Given the description of an element on the screen output the (x, y) to click on. 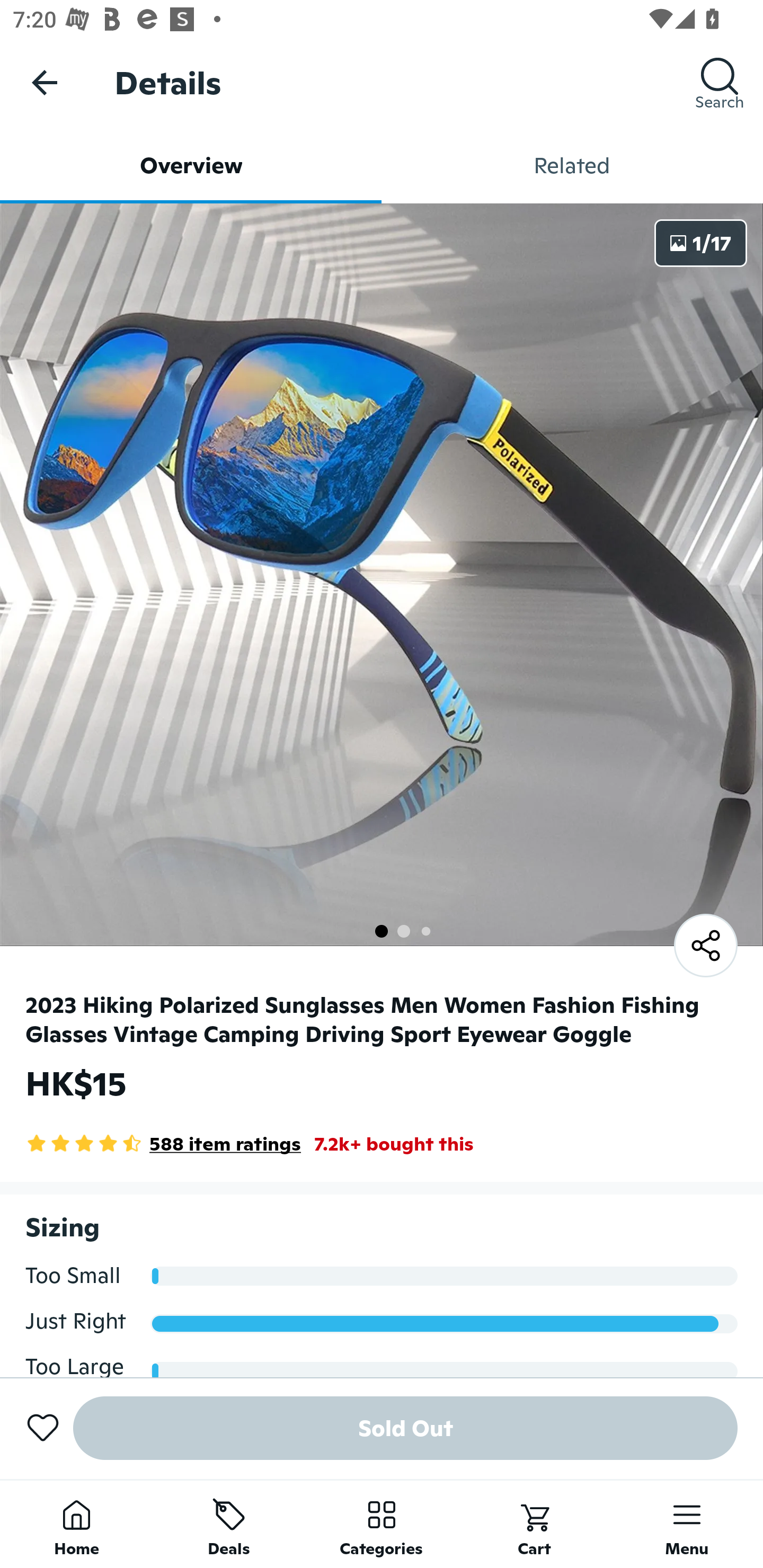
Navigate up (44, 82)
Search (719, 82)
Related (572, 165)
1/17 (700, 242)
4.6 Star Rating 588 item ratings (163, 1143)
Sold Out (405, 1428)
Home (76, 1523)
Deals (228, 1523)
Categories (381, 1523)
Cart (533, 1523)
Menu (686, 1523)
